Given the description of an element on the screen output the (x, y) to click on. 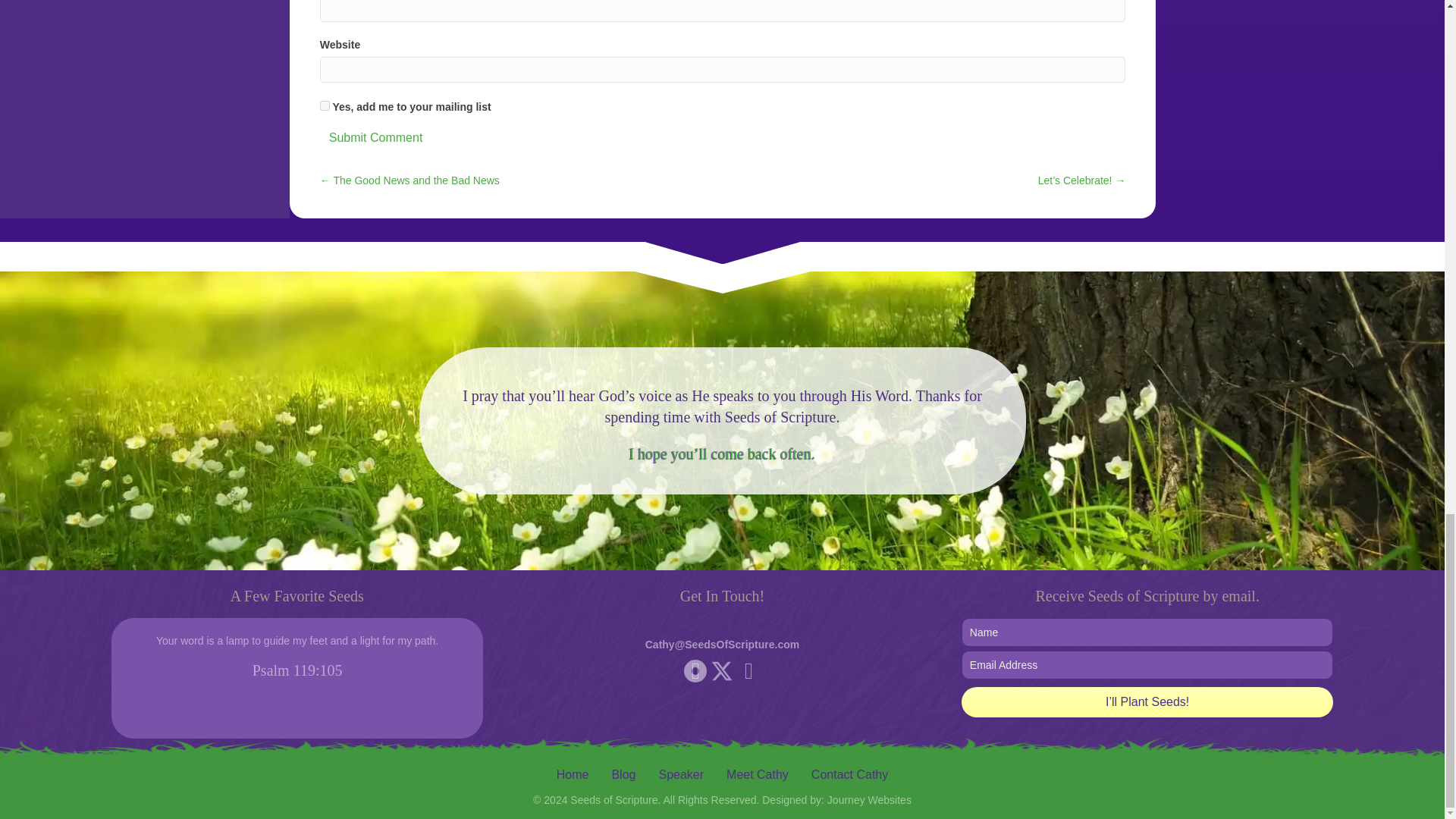
Submit Comment (376, 137)
1 (325, 105)
Instagram (748, 671)
Facebook (695, 671)
